Given the description of an element on the screen output the (x, y) to click on. 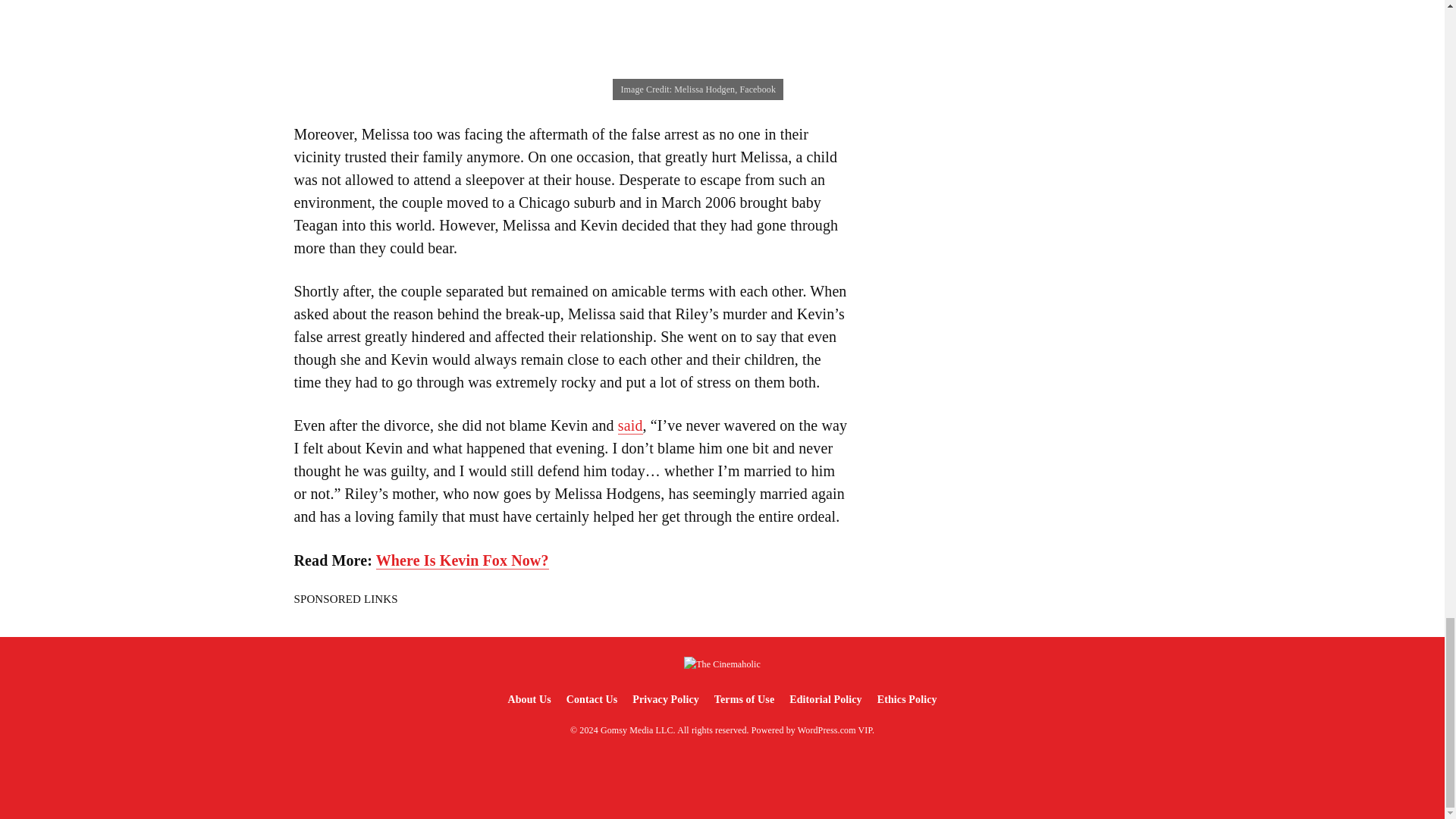
Editorial Policy (825, 699)
Privacy Policy (665, 699)
Where Is Kevin Fox Now? (461, 560)
About Us (528, 699)
Terms of Use (743, 699)
WordPress.com VIP (834, 729)
Contact Us (592, 699)
Ethics Policy (906, 699)
said (630, 425)
